Given the description of an element on the screen output the (x, y) to click on. 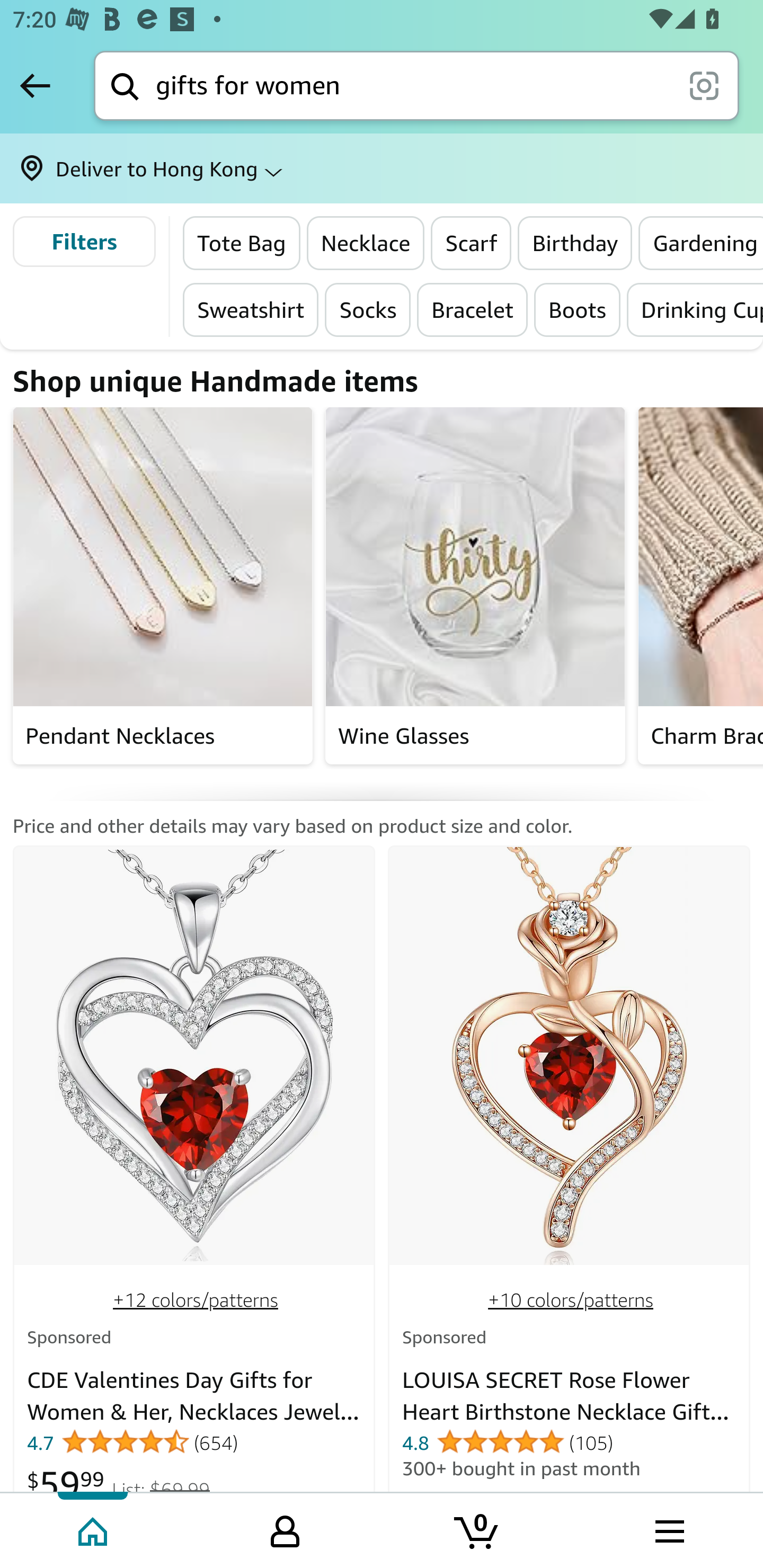
Back (35, 85)
Search Search gifts for women scan it (416, 85)
scan it (704, 85)
Deliver to Hong Kong ⌵ (381, 168)
Filters (83, 241)
Tote Bag (241, 242)
Necklace (365, 242)
Scarf (471, 242)
Birthday (574, 242)
Gardening (700, 242)
Sweatshirt (251, 309)
Socks (368, 309)
Bracelet (472, 309)
Boots (577, 309)
Drinking Cup (694, 309)
+12 colors/patterns (195, 1300)
+10 colors/patterns (570, 1300)
Home Tab 1 of 4 (94, 1529)
Your Amazon.com Tab 2 of 4 (285, 1529)
Cart 0 item Tab 3 of 4 0 (477, 1529)
Browse menu Tab 4 of 4 (668, 1529)
